Given the description of an element on the screen output the (x, y) to click on. 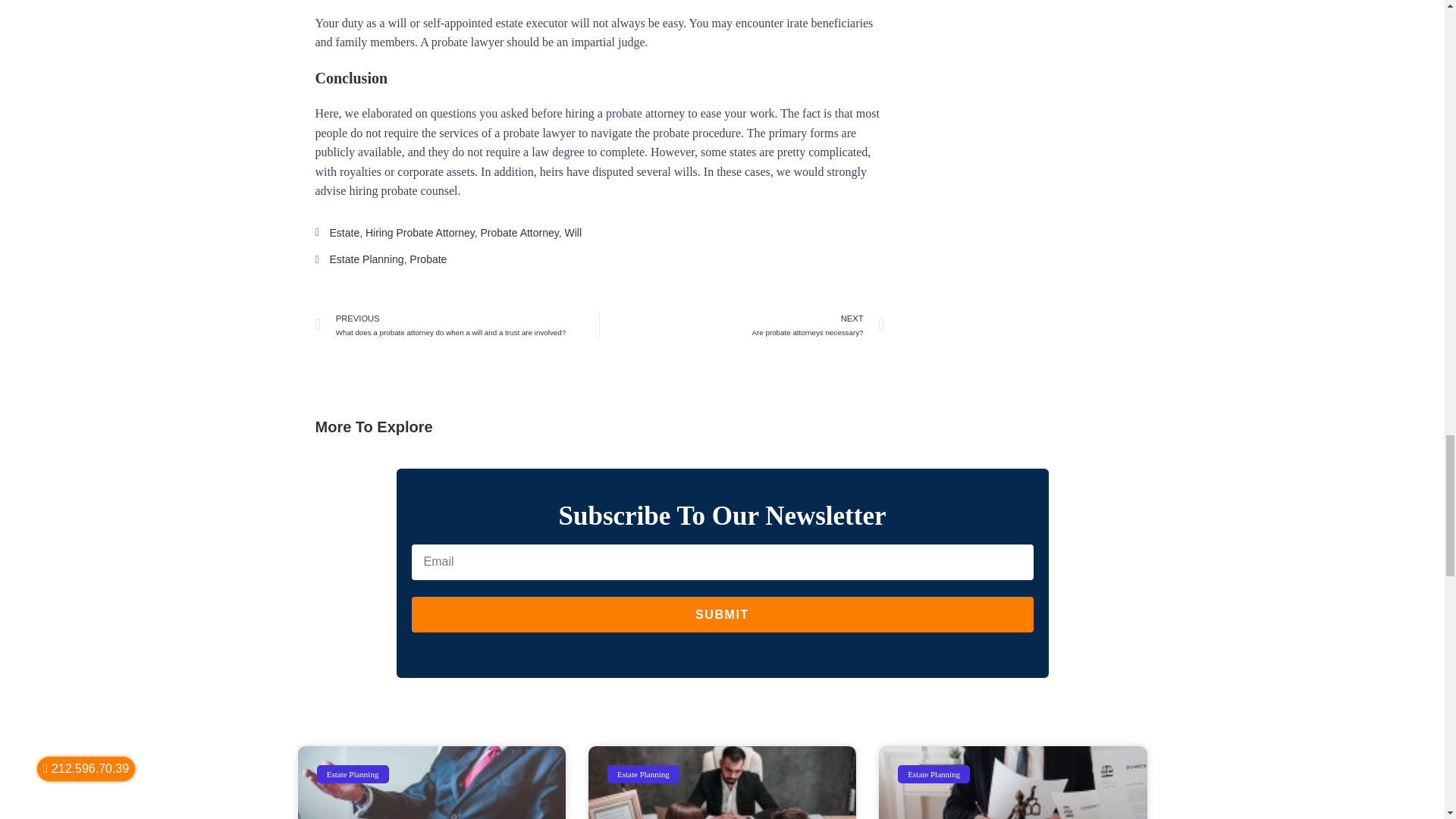
Will (573, 232)
Probate (427, 259)
Hiring Probate Attorney (419, 232)
Estate (344, 232)
Estate Planning (741, 325)
Probate Attorney (366, 259)
